Given the description of an element on the screen output the (x, y) to click on. 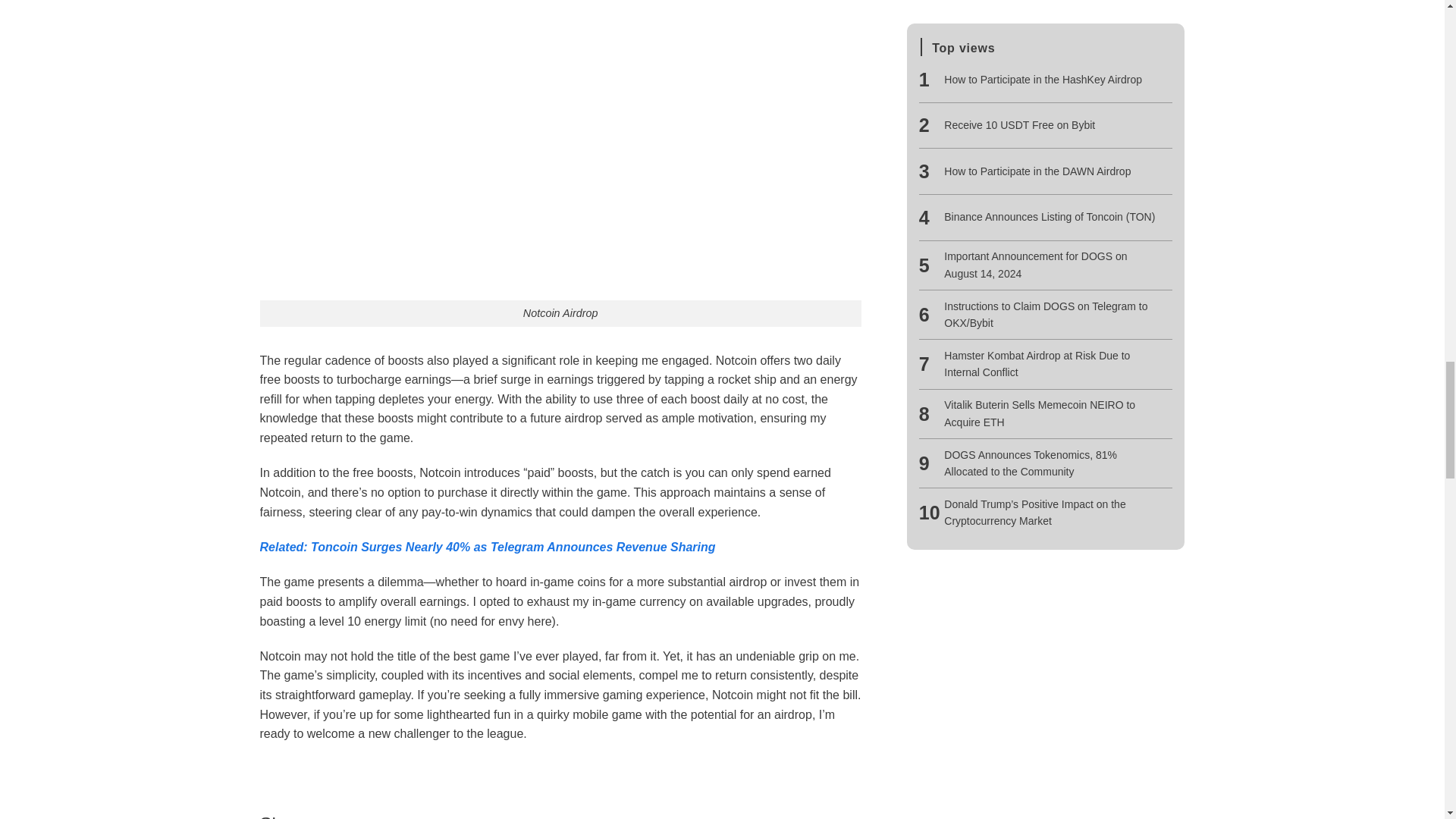
Share on Facebook (329, 817)
Email to a Friend (383, 817)
Share on Twitter (356, 817)
Pin on Pinterest (409, 817)
Share on LinkedIn (435, 817)
